Given the description of an element on the screen output the (x, y) to click on. 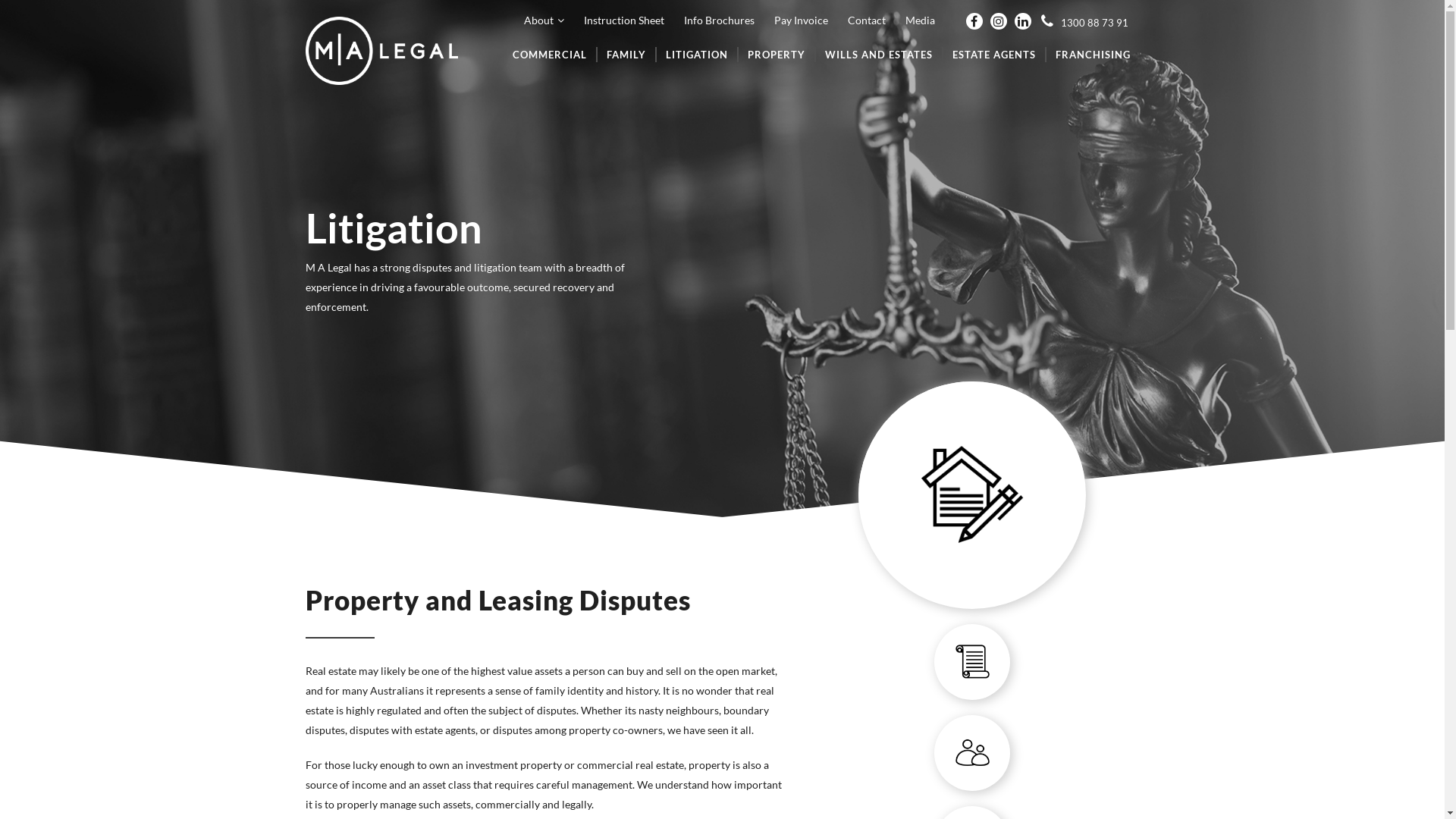
Pay Invoice Element type: text (798, 19)
LITIGATION Element type: text (696, 54)
About Element type: text (541, 20)
PROPERTY Element type: text (775, 54)
FAMILY Element type: text (625, 54)
Instruction Sheet Element type: text (622, 19)
Media Element type: text (918, 19)
Contact Element type: text (864, 19)
Info Brochures Element type: text (717, 19)
COMMERCIAL Element type: text (549, 54)
WILLS AND ESTATES Element type: text (877, 54)
ESTATE AGENTS Element type: text (992, 54)
FRANCHISING Element type: text (1091, 54)
